Given the description of an element on the screen output the (x, y) to click on. 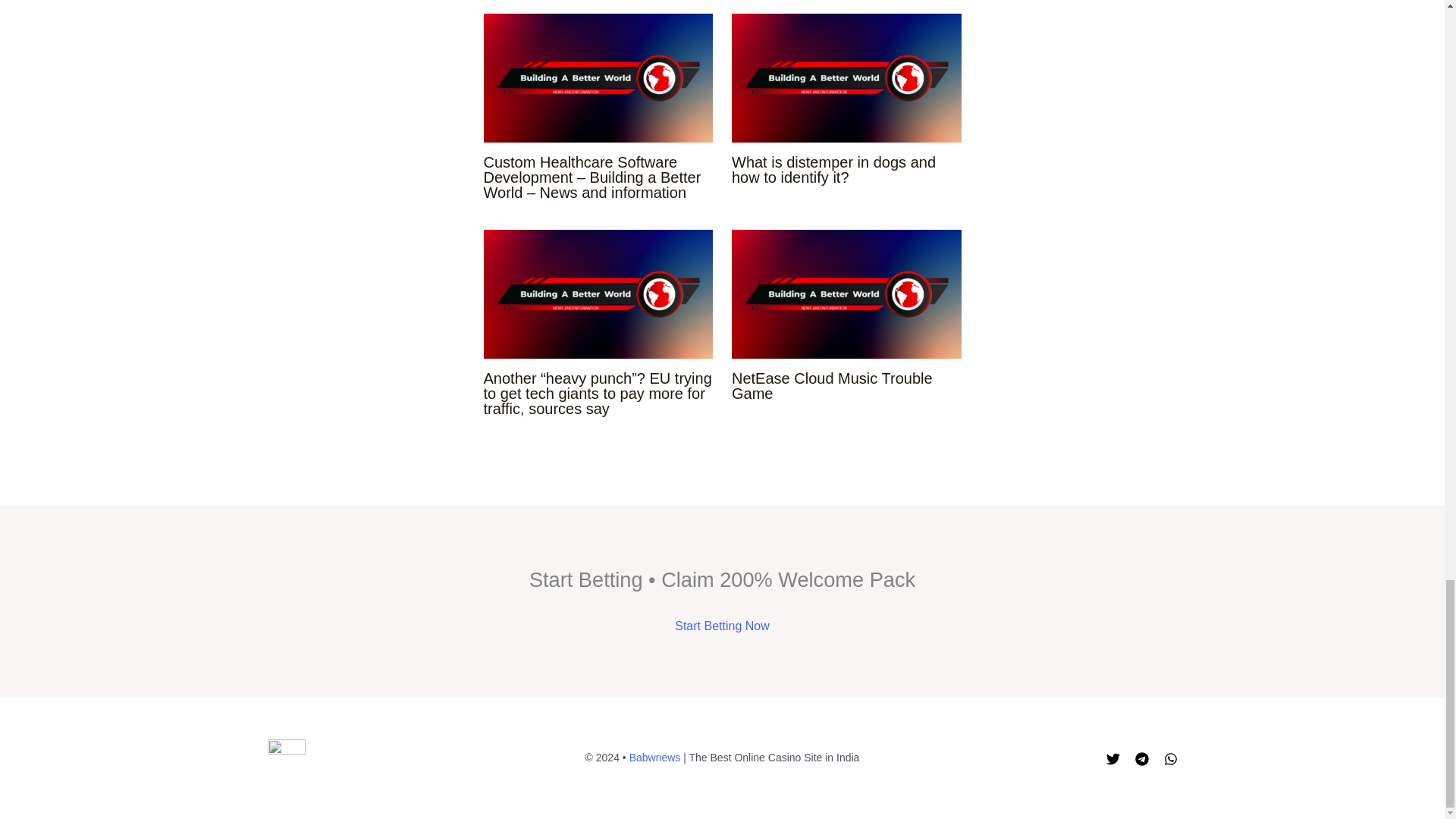
Start Betting Now (722, 625)
NetEase Cloud Music Trouble Game (832, 386)
Start Betting Now (722, 625)
What is distemper in dogs and how to identify it? (834, 169)
